Given the description of an element on the screen output the (x, y) to click on. 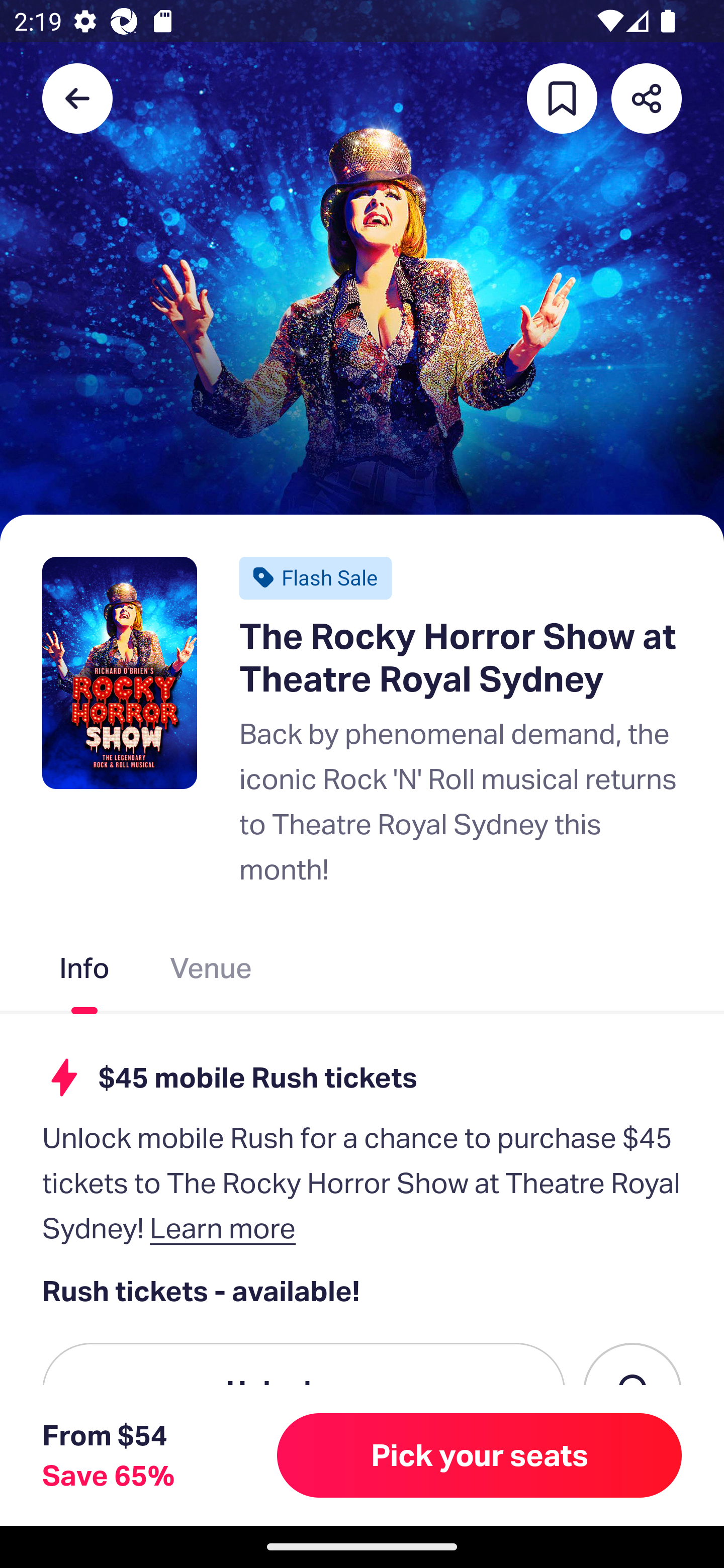
Venue (210, 971)
Pick your seats (479, 1454)
